Given the description of an element on the screen output the (x, y) to click on. 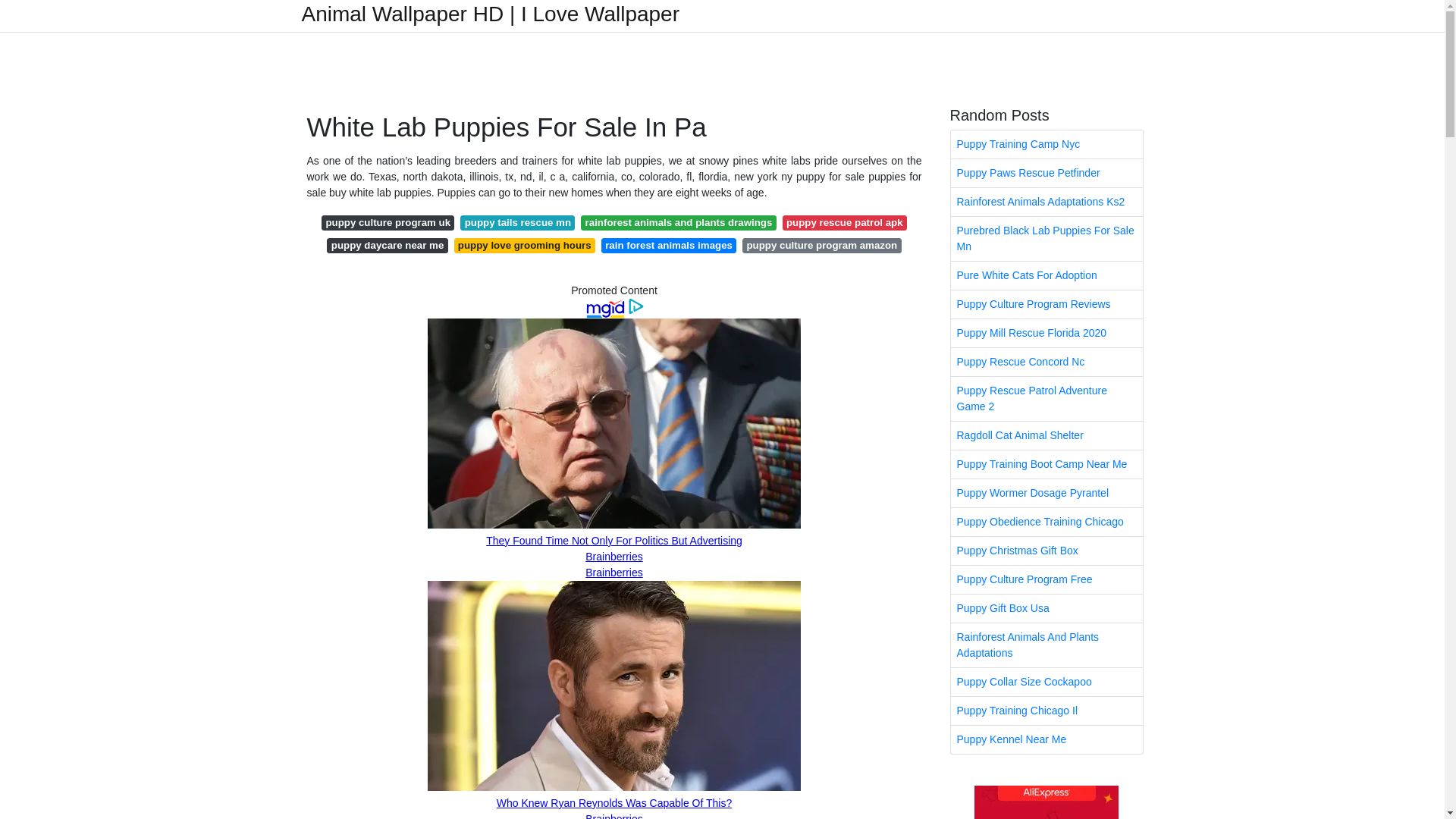
puppy rescue patrol apk (845, 222)
puppy culture program uk (387, 222)
Puppy Rescue Concord Nc (1046, 361)
rainforest animals and plants drawings (678, 222)
Pure White Cats For Adoption (1046, 275)
rain forest animals images (668, 245)
puppy tails rescue mn (517, 222)
Ragdoll Cat Animal Shelter (1046, 435)
Purebred Black Lab Puppies For Sale Mn (1046, 239)
Rainforest Animals Adaptations Ks2 (1046, 202)
Puppy Training Camp Nyc (1046, 144)
Puppy Mill Rescue Florida 2020 (1046, 333)
puppy culture program amazon (821, 245)
Puppy Paws Rescue Petfinder (1046, 172)
puppy daycare near me (386, 245)
